Given the description of an element on the screen output the (x, y) to click on. 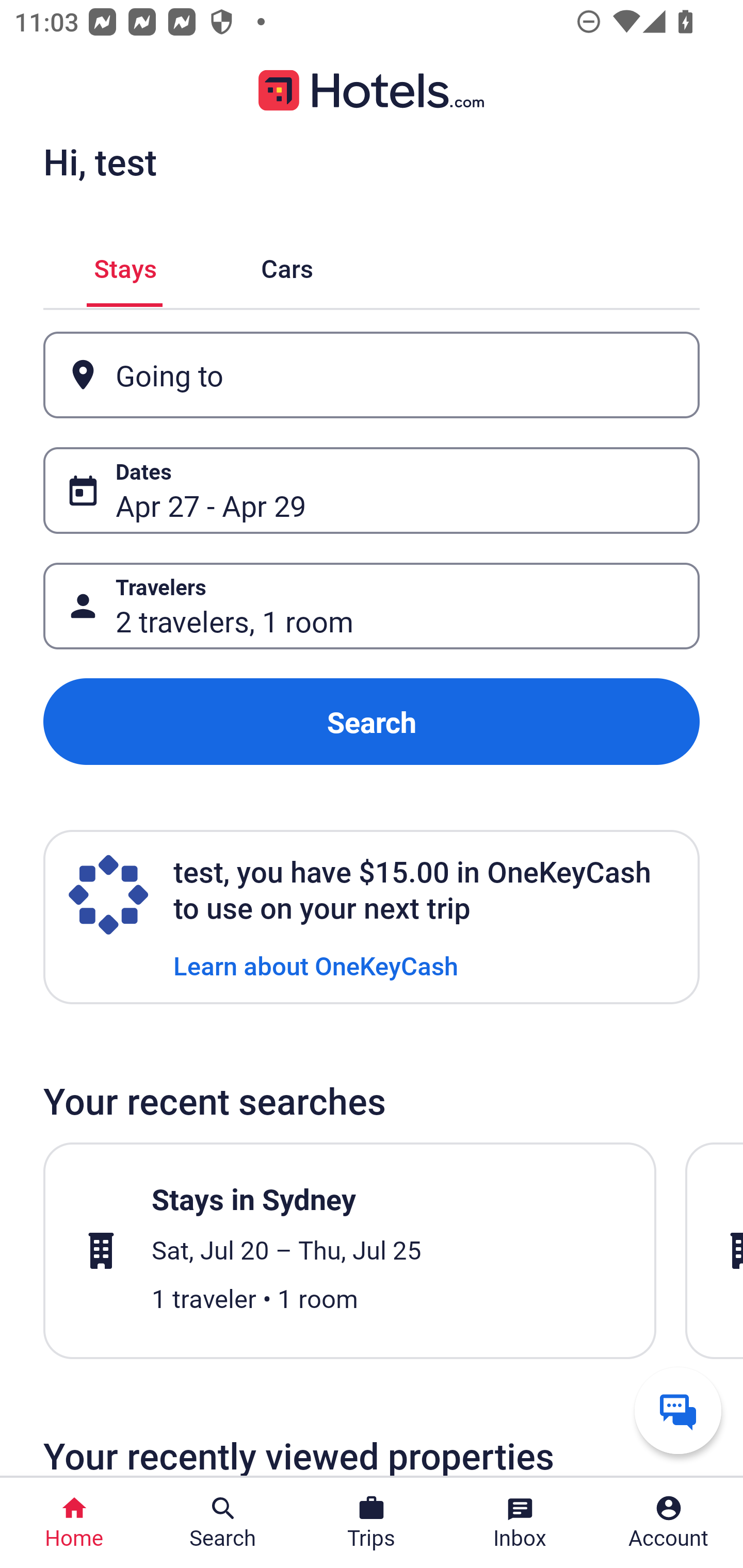
Hi, test (99, 161)
Cars (286, 265)
Going to Button (371, 375)
Dates Button Apr 27 - Apr 29 (371, 489)
Travelers Button 2 travelers, 1 room (371, 605)
Search (371, 721)
Learn about OneKeyCash Learn about OneKeyCash Link (315, 964)
Get help from a virtual agent (677, 1410)
Search Search Button (222, 1522)
Trips Trips Button (371, 1522)
Inbox Inbox Button (519, 1522)
Account Profile. Button (668, 1522)
